Given the description of an element on the screen output the (x, y) to click on. 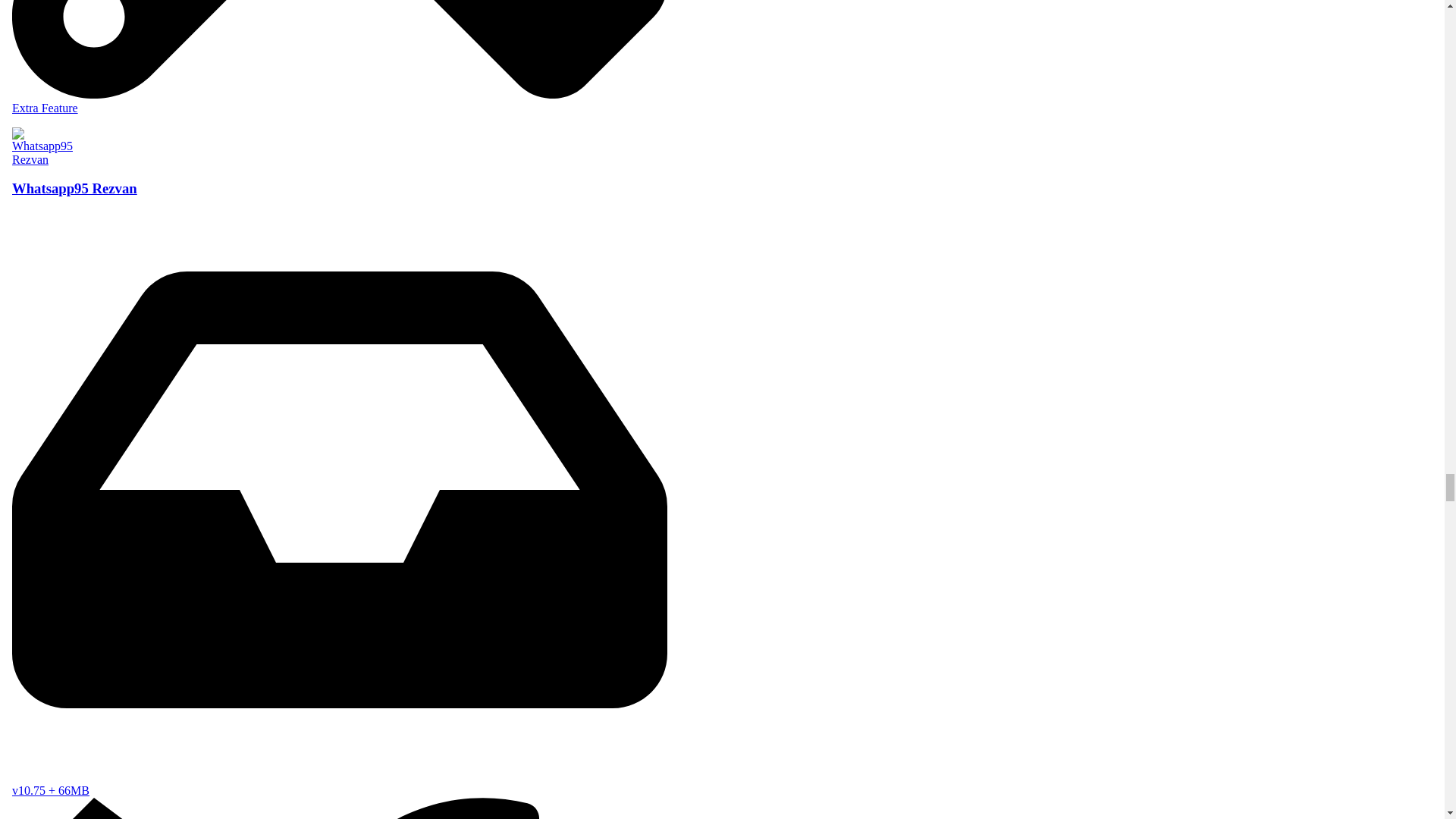
ARWhatsApp1 (338, 60)
